Given the description of an element on the screen output the (x, y) to click on. 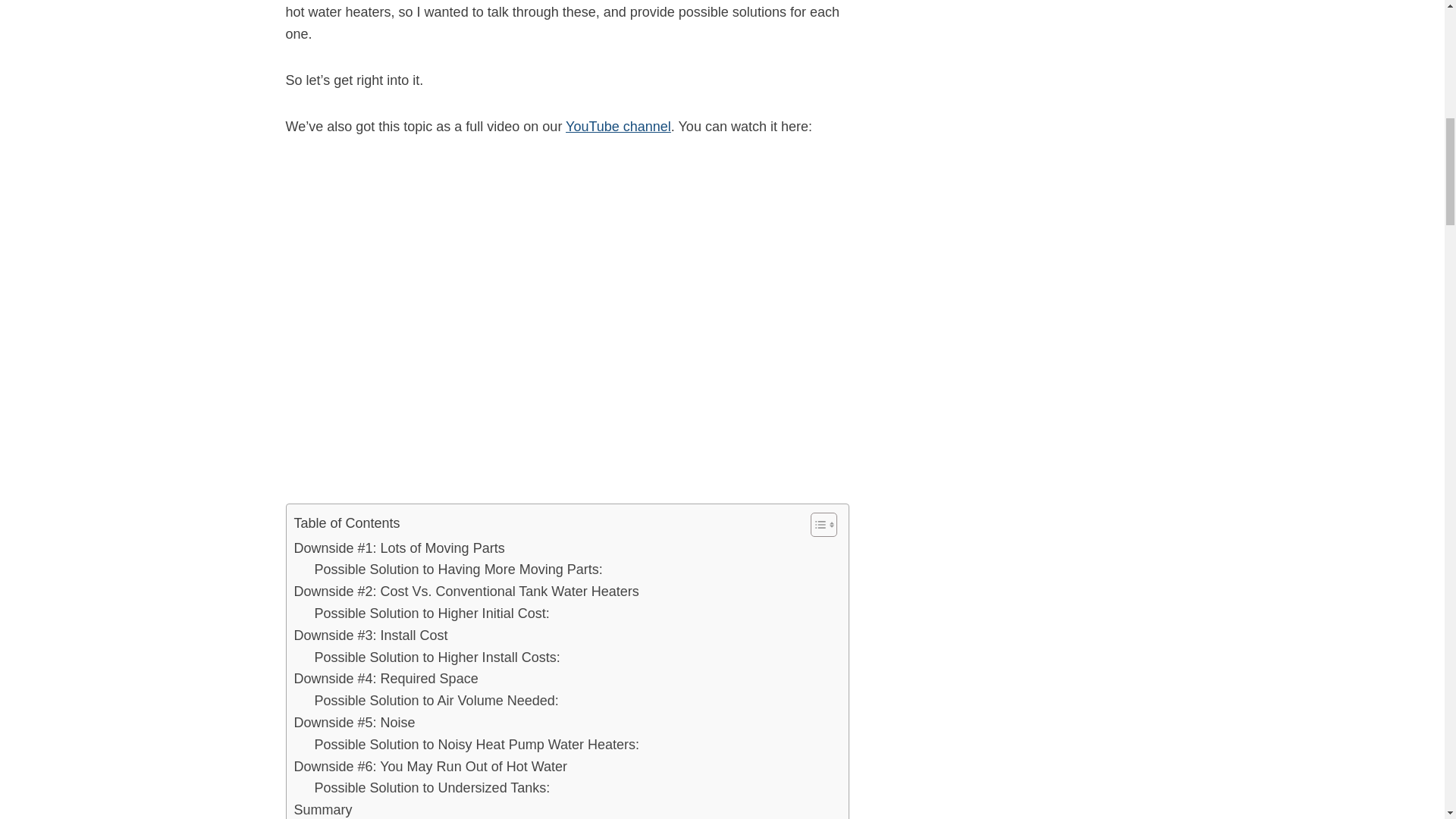
Possible Solution to Higher Initial Cost: (431, 613)
Possible Solution to Air Volume Needed: (435, 700)
Possible Solution to Higher Install Costs: (436, 658)
Possible Solution to Having More Moving Parts: (458, 569)
